Given the description of an element on the screen output the (x, y) to click on. 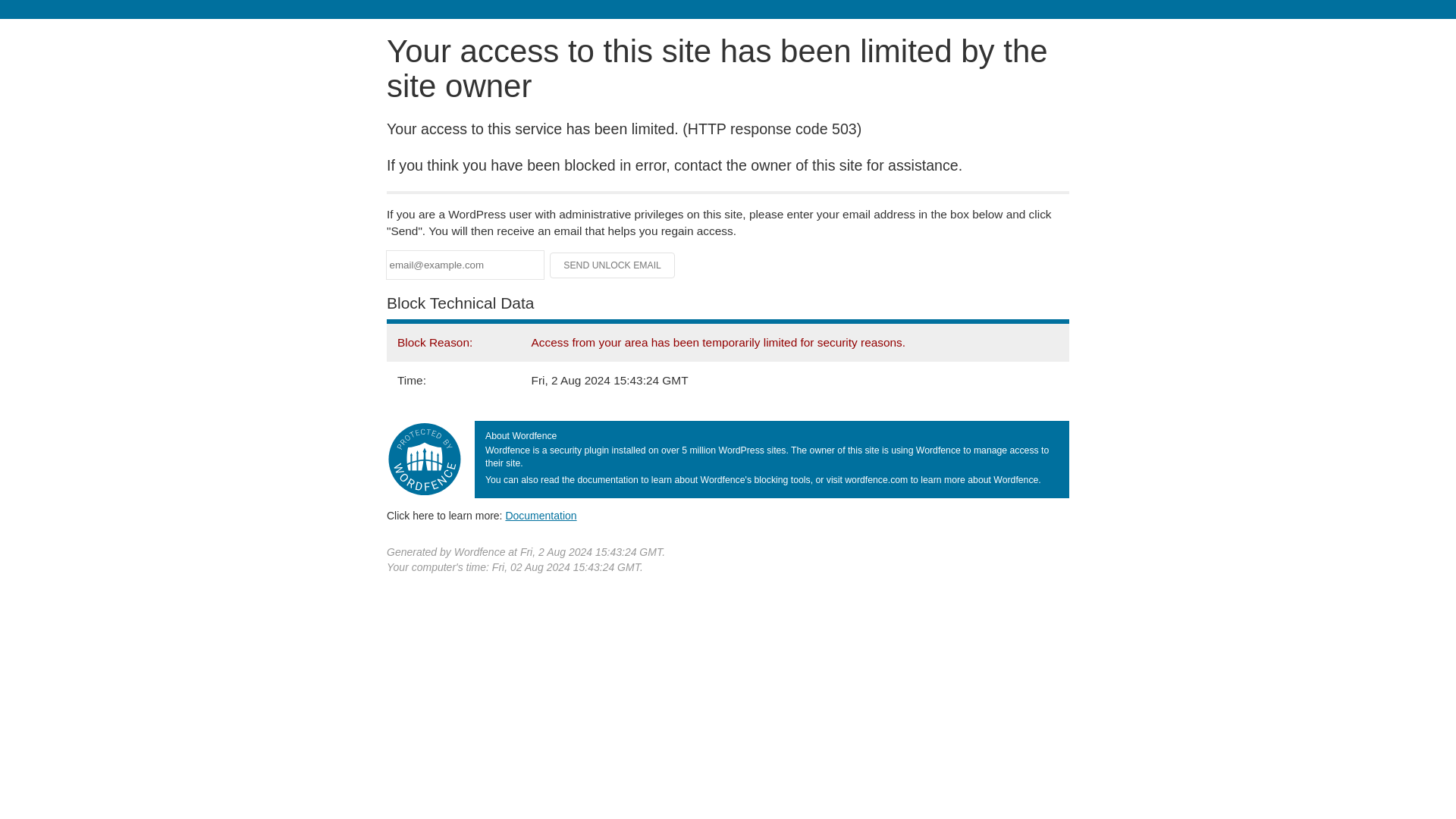
Send Unlock Email (612, 265)
Send Unlock Email (612, 265)
Documentation (540, 515)
